Given the description of an element on the screen output the (x, y) to click on. 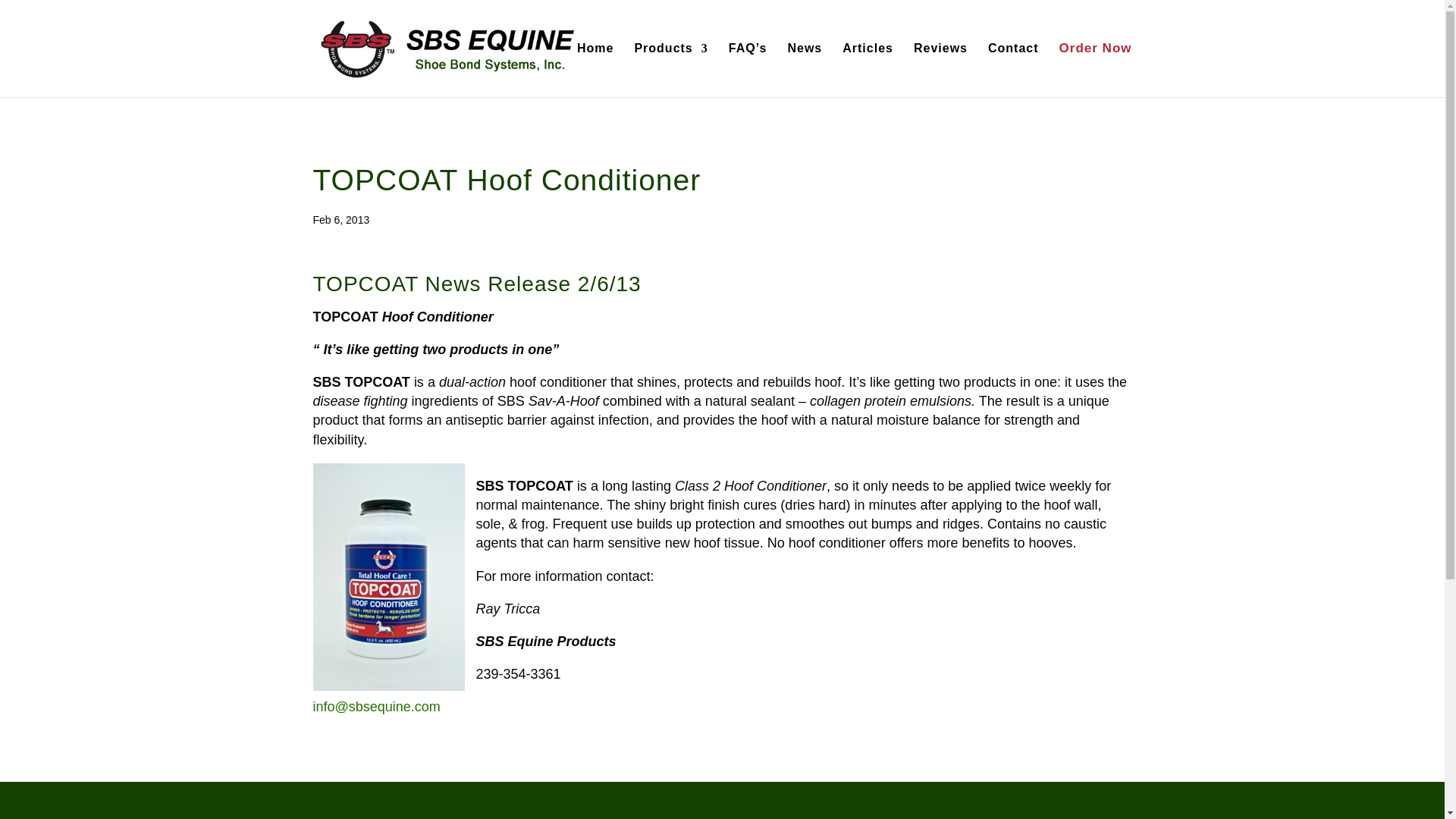
Contact (1013, 70)
Products (670, 70)
Order Now (1095, 70)
Articles (868, 70)
Reviews (941, 70)
